Given the description of an element on the screen output the (x, y) to click on. 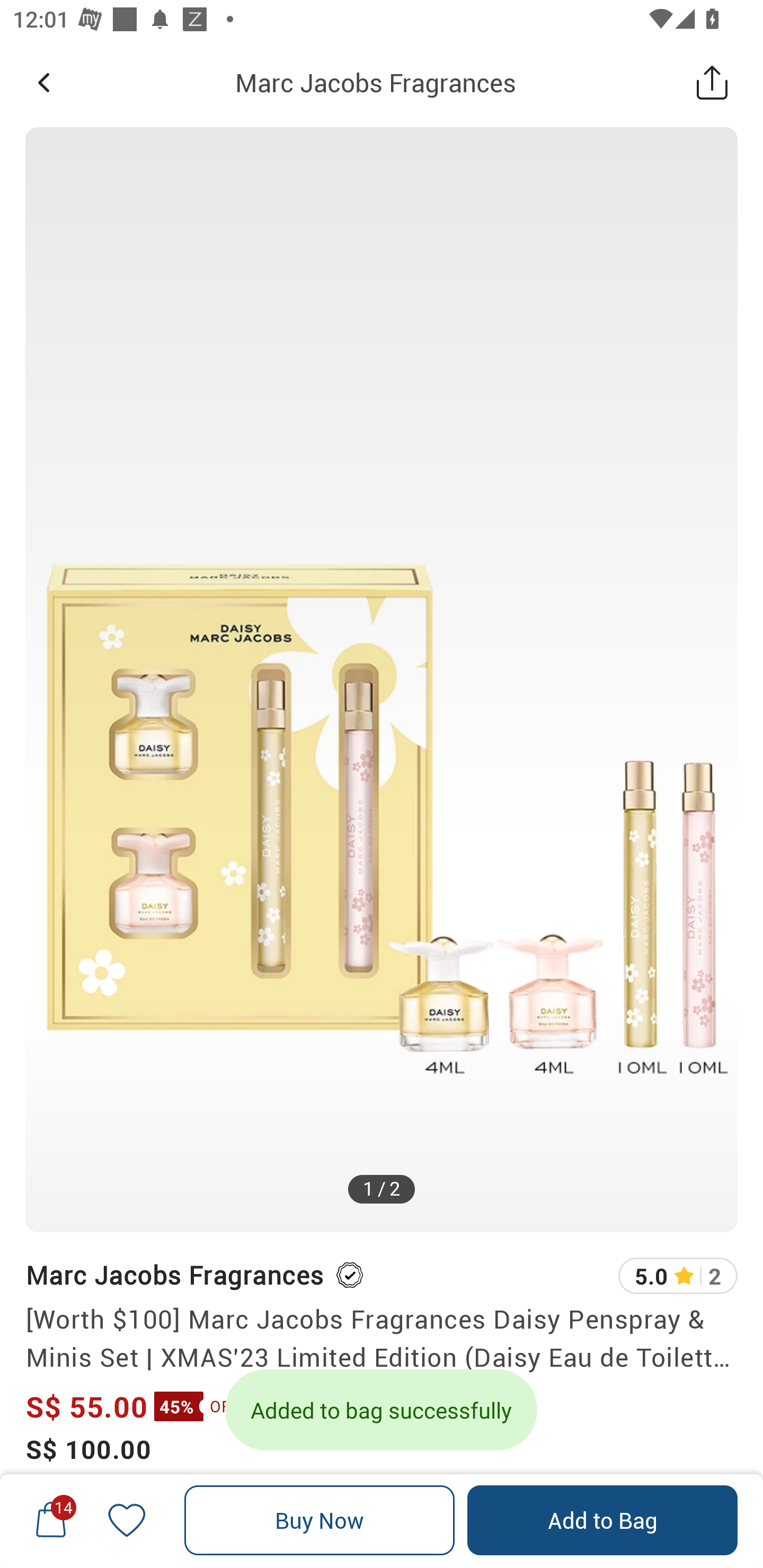
Marc Jacobs Fragrances (375, 82)
Share this Product (711, 82)
Marc Jacobs Fragrances (174, 1274)
5.0 2 (677, 1275)
Buy Now (319, 1519)
Add to Bag (601, 1519)
14 (50, 1520)
